Given the description of an element on the screen output the (x, y) to click on. 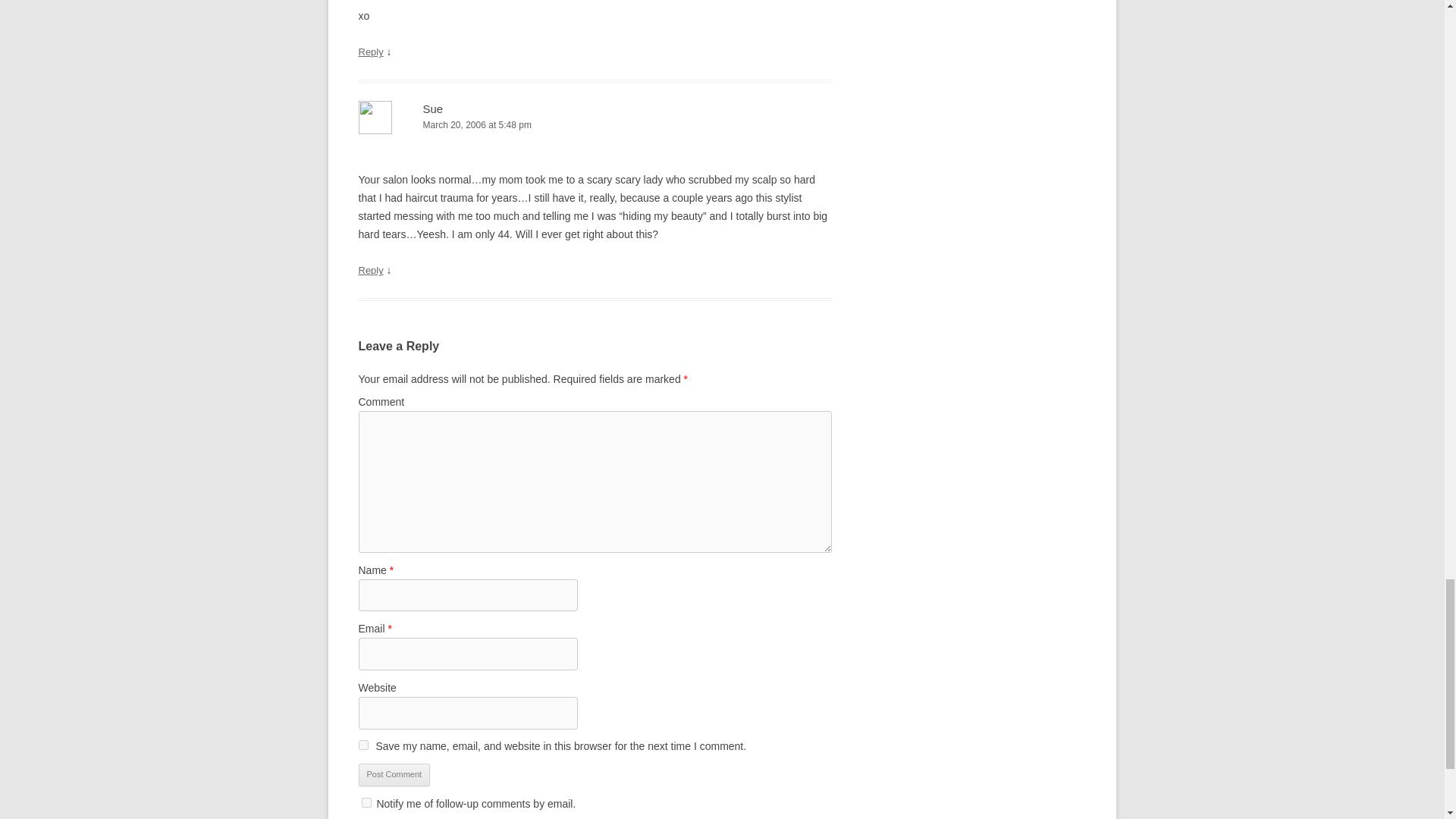
Sue (433, 108)
Reply (370, 270)
Reply (370, 51)
Post Comment (393, 774)
yes (363, 745)
Post Comment (393, 774)
March 20, 2006 at 5:48 pm (594, 125)
subscribe (366, 802)
